Given the description of an element on the screen output the (x, y) to click on. 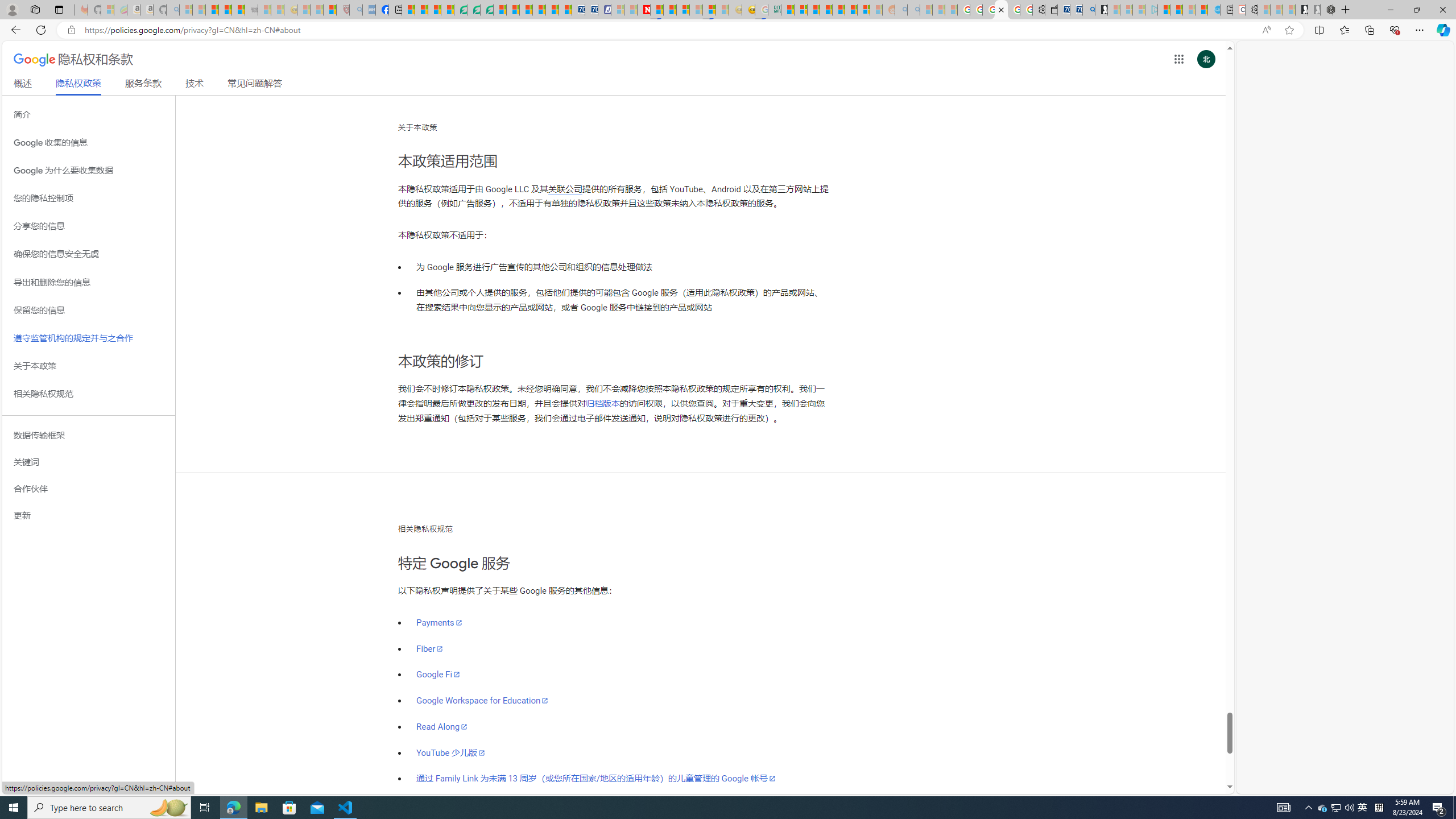
Terms of Use Agreement (473, 9)
Cheap Hotels - Save70.com (590, 9)
